Given the description of an element on the screen output the (x, y) to click on. 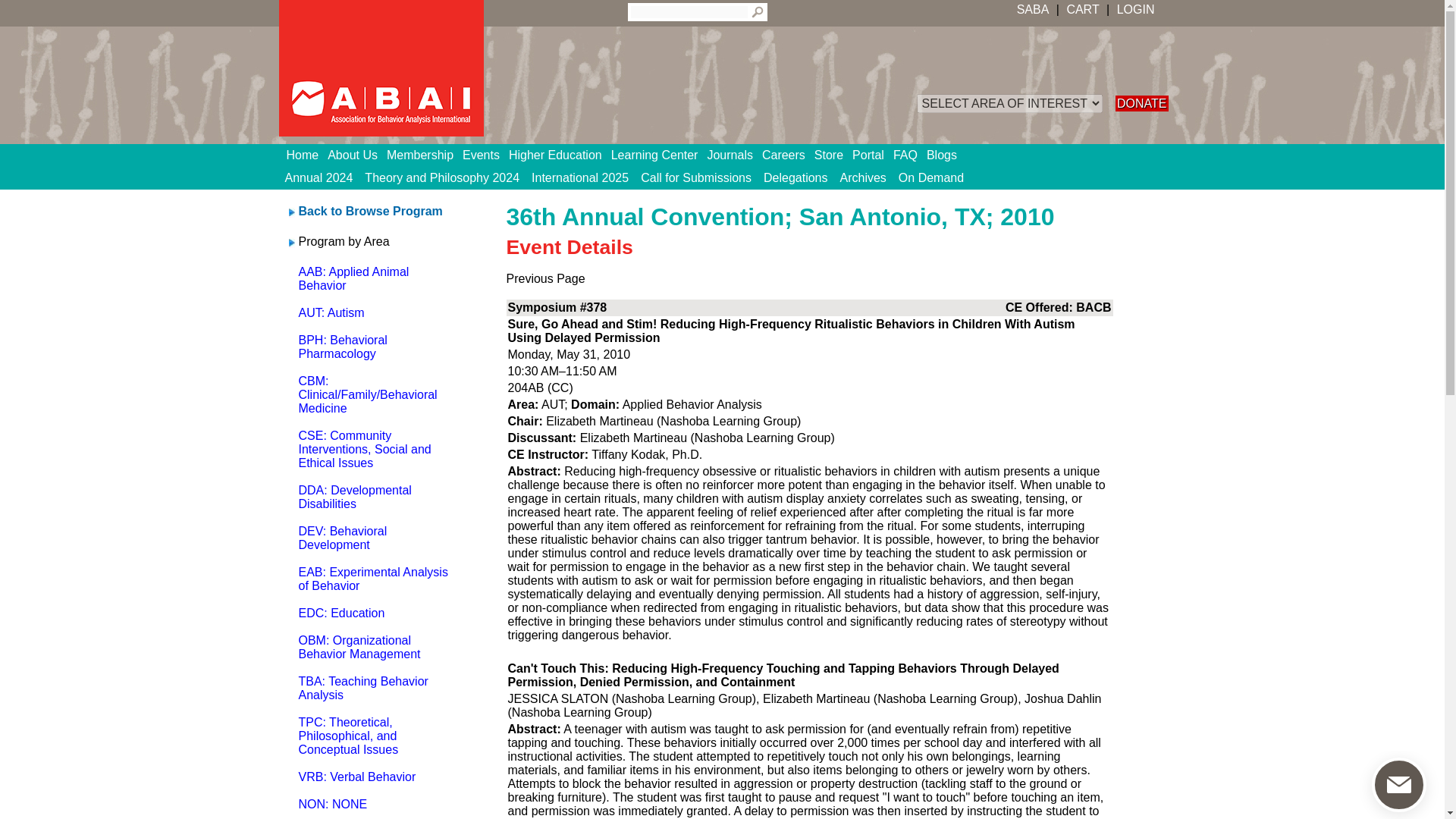
Journals (733, 155)
Call for Submissions (695, 178)
FAQ (909, 155)
Annual 2024 (319, 178)
Home (307, 155)
About Us (357, 155)
Blogs (946, 155)
Events (485, 155)
CART (1082, 9)
Archives (863, 178)
LOGIN (1133, 9)
International 2025 (579, 178)
Delegations (795, 178)
Store (832, 155)
Higher Education (559, 155)
